Given the description of an element on the screen output the (x, y) to click on. 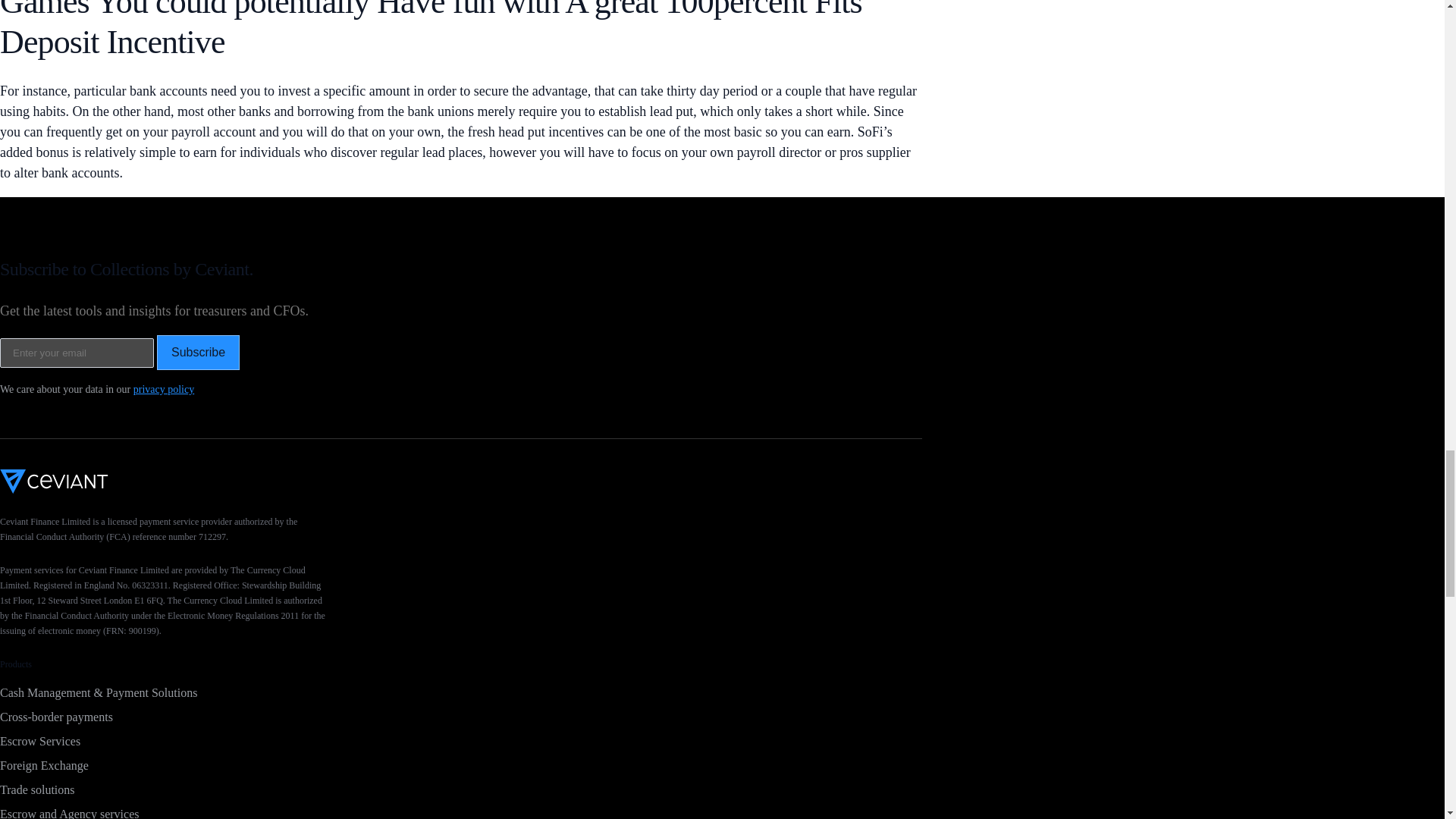
Subscribe (198, 352)
Escrow Services (460, 741)
Subscribe (198, 352)
privacy policy (163, 389)
Cross-border payments (460, 717)
